Given the description of an element on the screen output the (x, y) to click on. 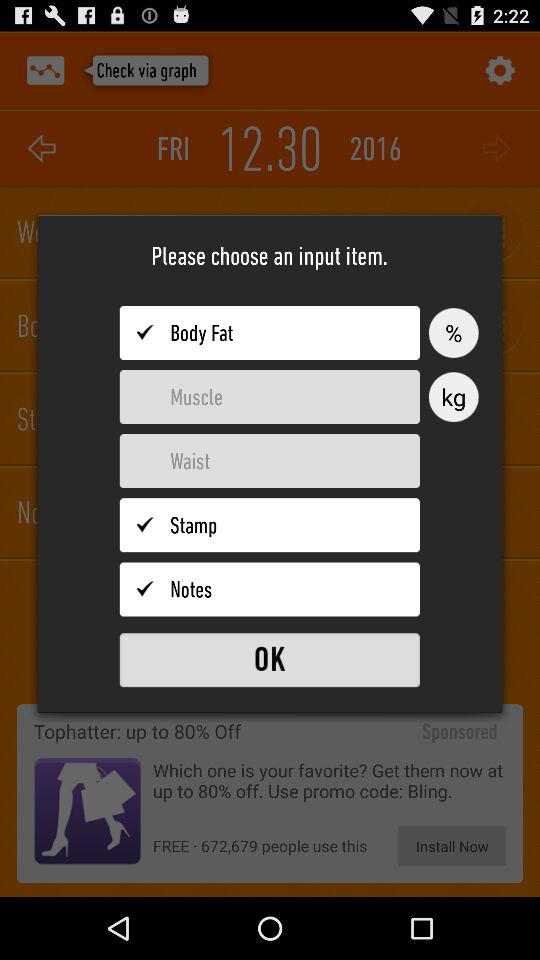
turn off icon above kg item (453, 332)
